Given the description of an element on the screen output the (x, y) to click on. 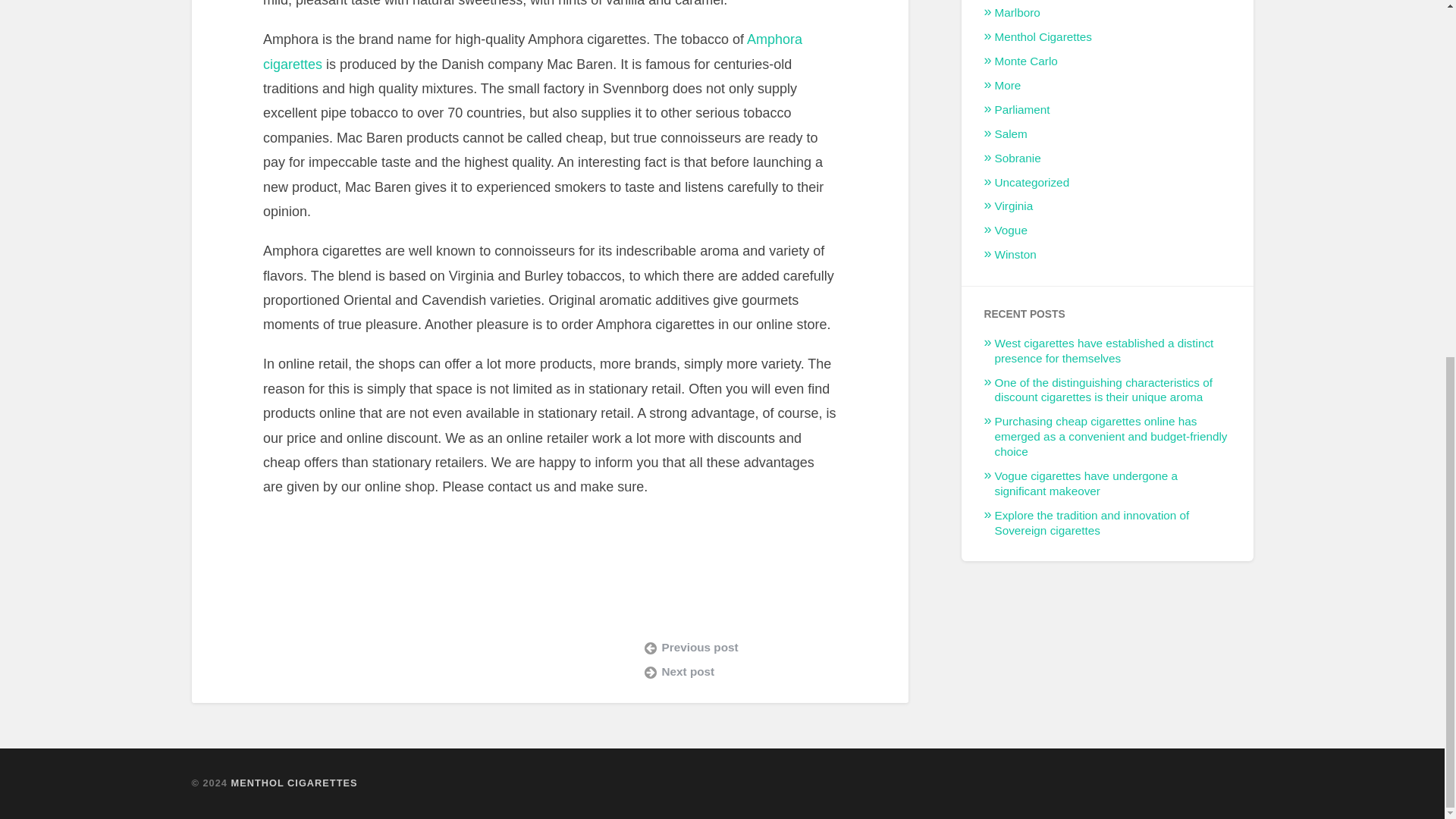
Sobranie (1017, 157)
Virginia (1013, 205)
Parliament (1021, 109)
Menthol Cigarettes (1043, 36)
Winston (1015, 254)
Next post (765, 671)
Monte Carlo (1026, 60)
Amphora cigarettes (532, 51)
Marlboro (1017, 11)
Vogue cigarettes have undergone a significant makeover (1085, 483)
MENTHOL CIGARETTES (294, 782)
Previous post (765, 647)
